Given the description of an element on the screen output the (x, y) to click on. 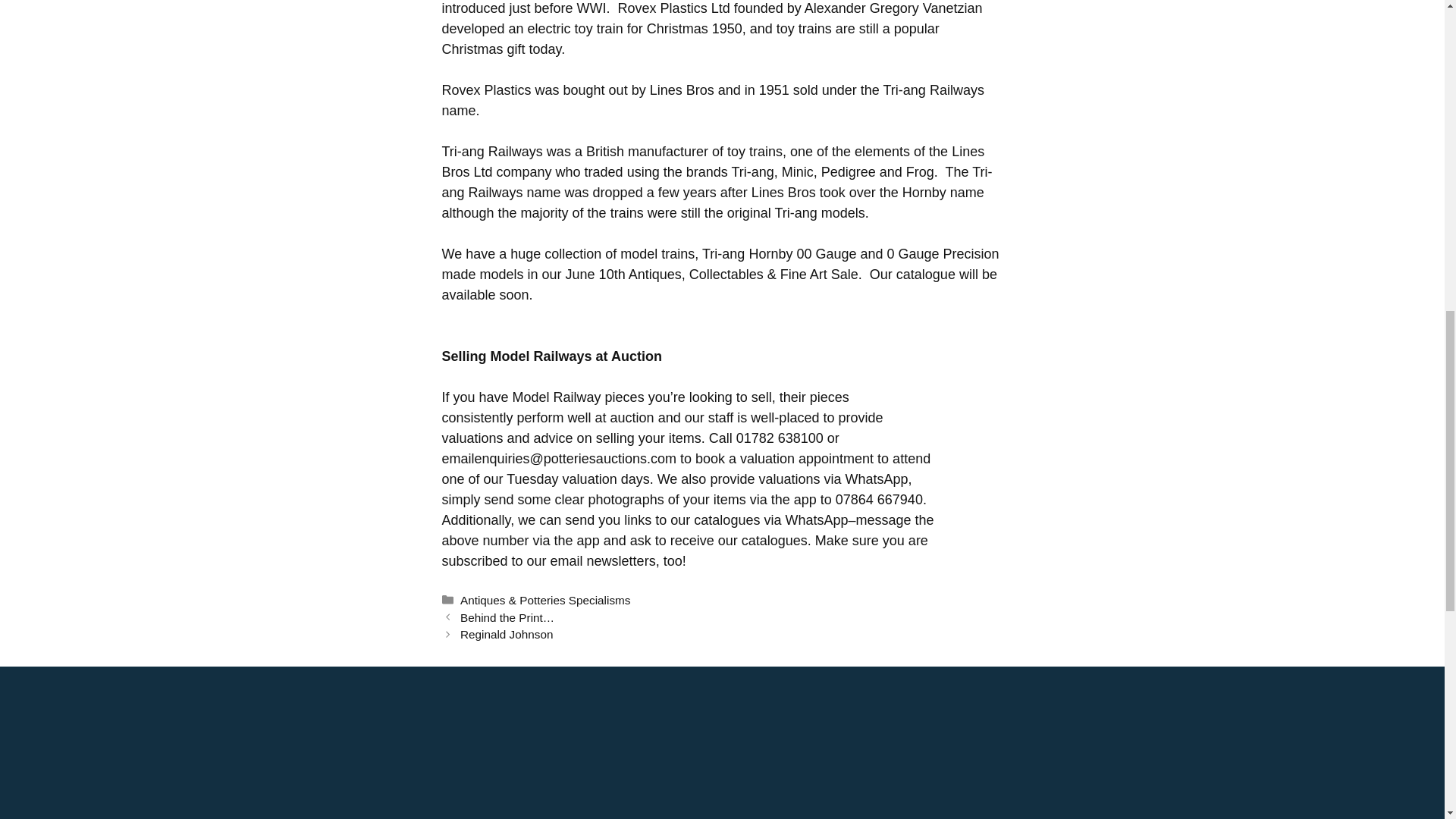
Reginald Johnson (506, 634)
